Given the description of an element on the screen output the (x, y) to click on. 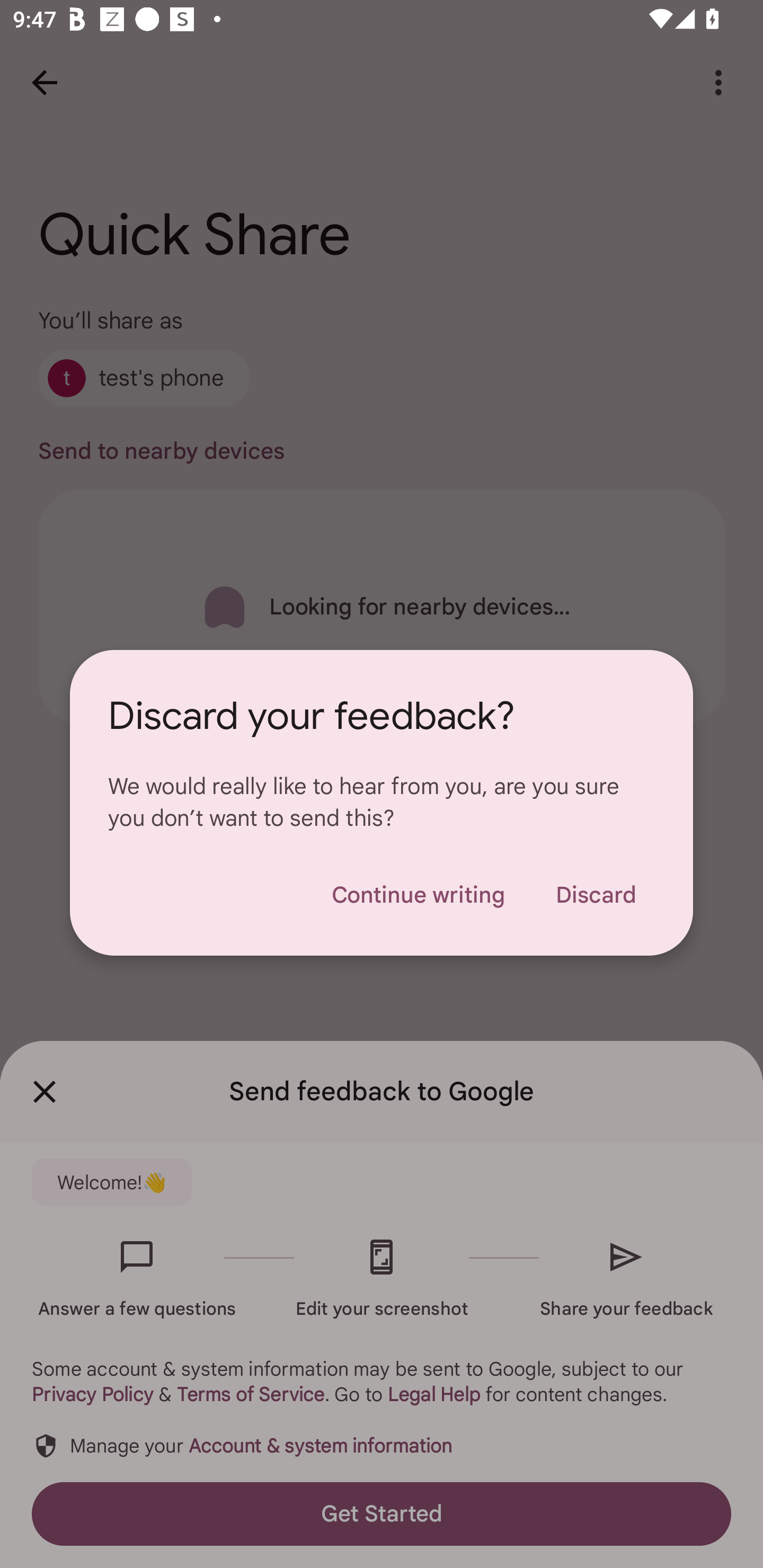
Continue writing (417, 894)
Discard (595, 894)
